Given the description of an element on the screen output the (x, y) to click on. 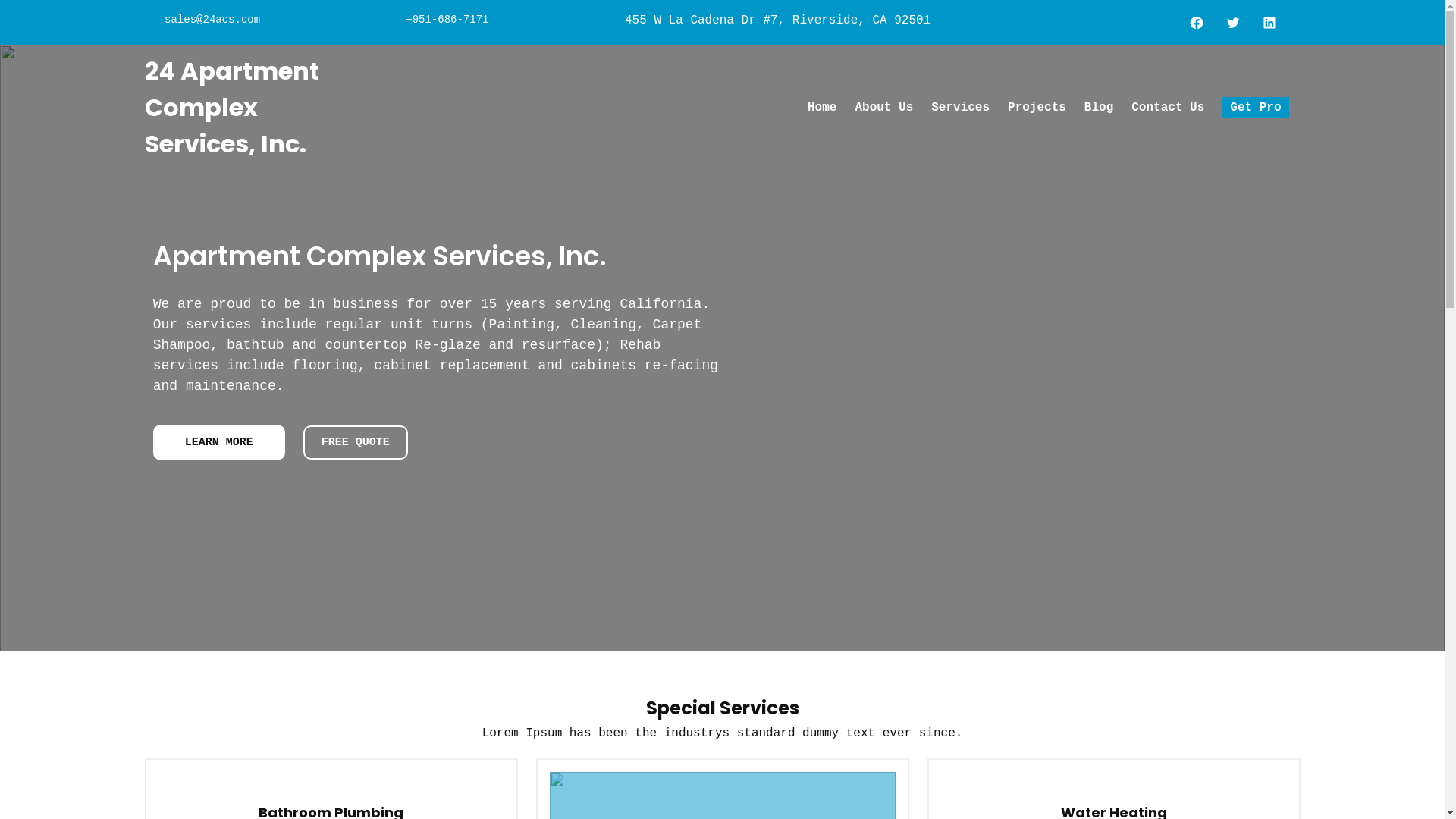
LEARN MORE Element type: text (219, 442)
Home Element type: text (821, 107)
Contact Us Element type: text (1167, 107)
24 Apartment Complex Services, Inc. Element type: text (231, 106)
FREE QUOTE Element type: text (355, 442)
About Us Element type: text (883, 107)
Get Pro Element type: text (1255, 107)
Facebook Element type: text (1198, 22)
Blog Element type: text (1098, 107)
Services Element type: text (960, 107)
Projects Element type: text (1036, 107)
Twitter Element type: text (1234, 22)
LinkedIn Element type: text (1270, 22)
